Given the description of an element on the screen output the (x, y) to click on. 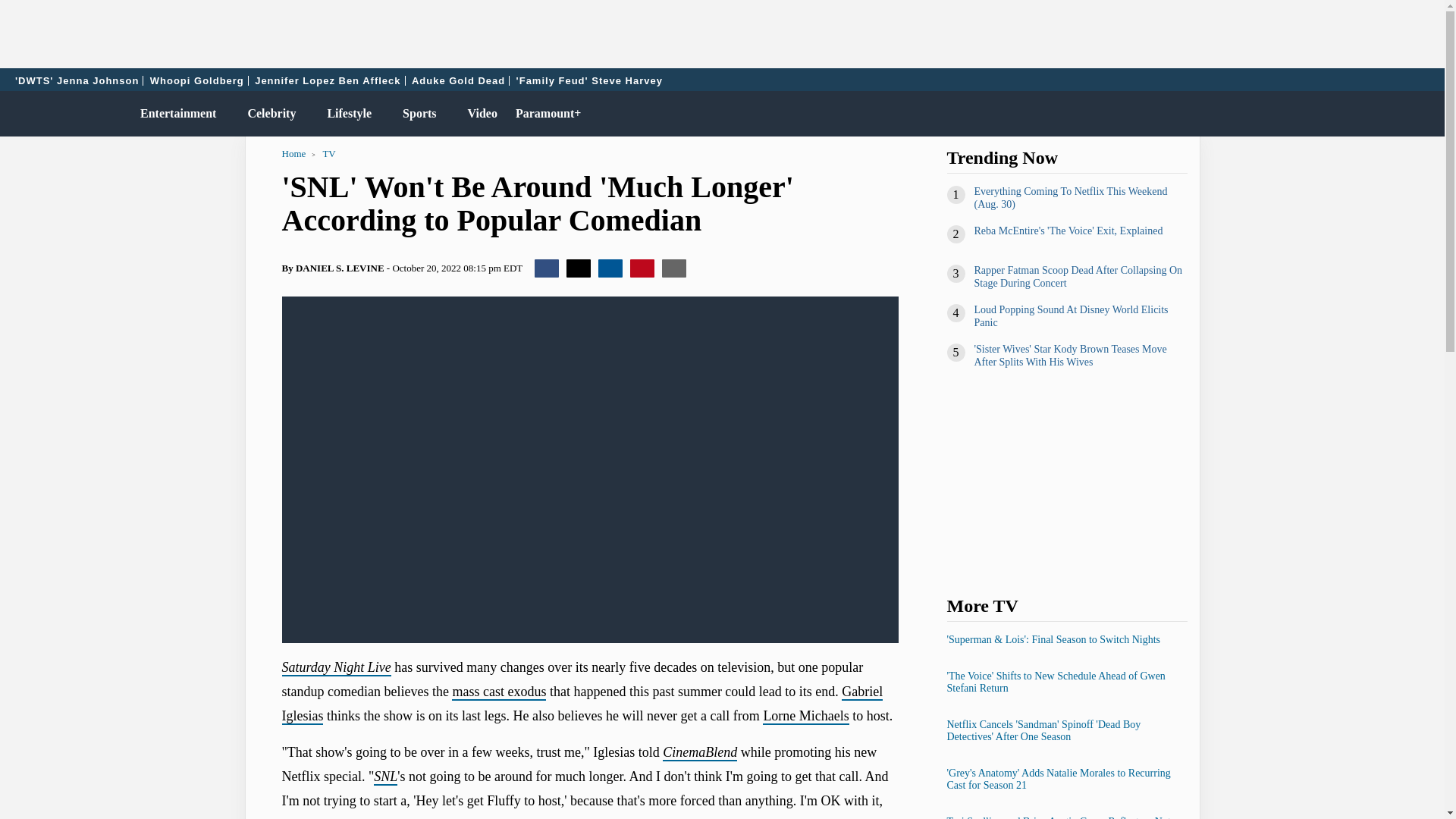
Celebrity (267, 113)
'Family Feud' Steve Harvey (589, 80)
Aduke Gold Dead (457, 80)
Lifestyle (345, 113)
Entertainment (175, 113)
Sports (416, 113)
'DWTS' Jenna Johnson (76, 80)
Dark Mode (1394, 113)
Jennifer Lopez Ben Affleck (327, 80)
